Given the description of an element on the screen output the (x, y) to click on. 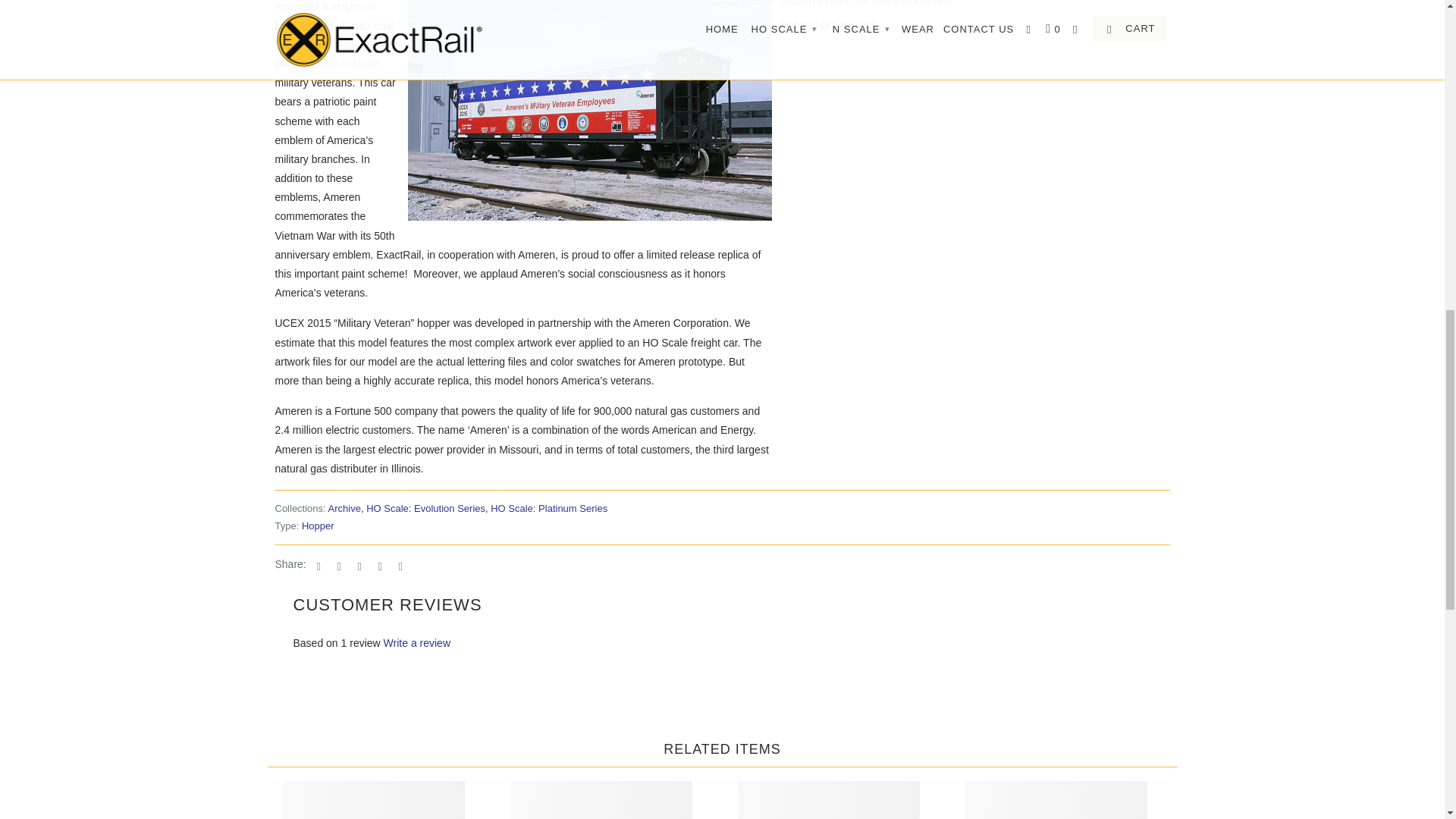
HO Scale: Evolution Series (425, 508)
Share this on Twitter (317, 564)
Share this on Facebook (338, 564)
Email this to a friend (400, 564)
Hopper (317, 525)
Share this on Pinterest (359, 564)
Archive (345, 508)
HO Scale: Platinum Series (548, 508)
